Given the description of an element on the screen output the (x, y) to click on. 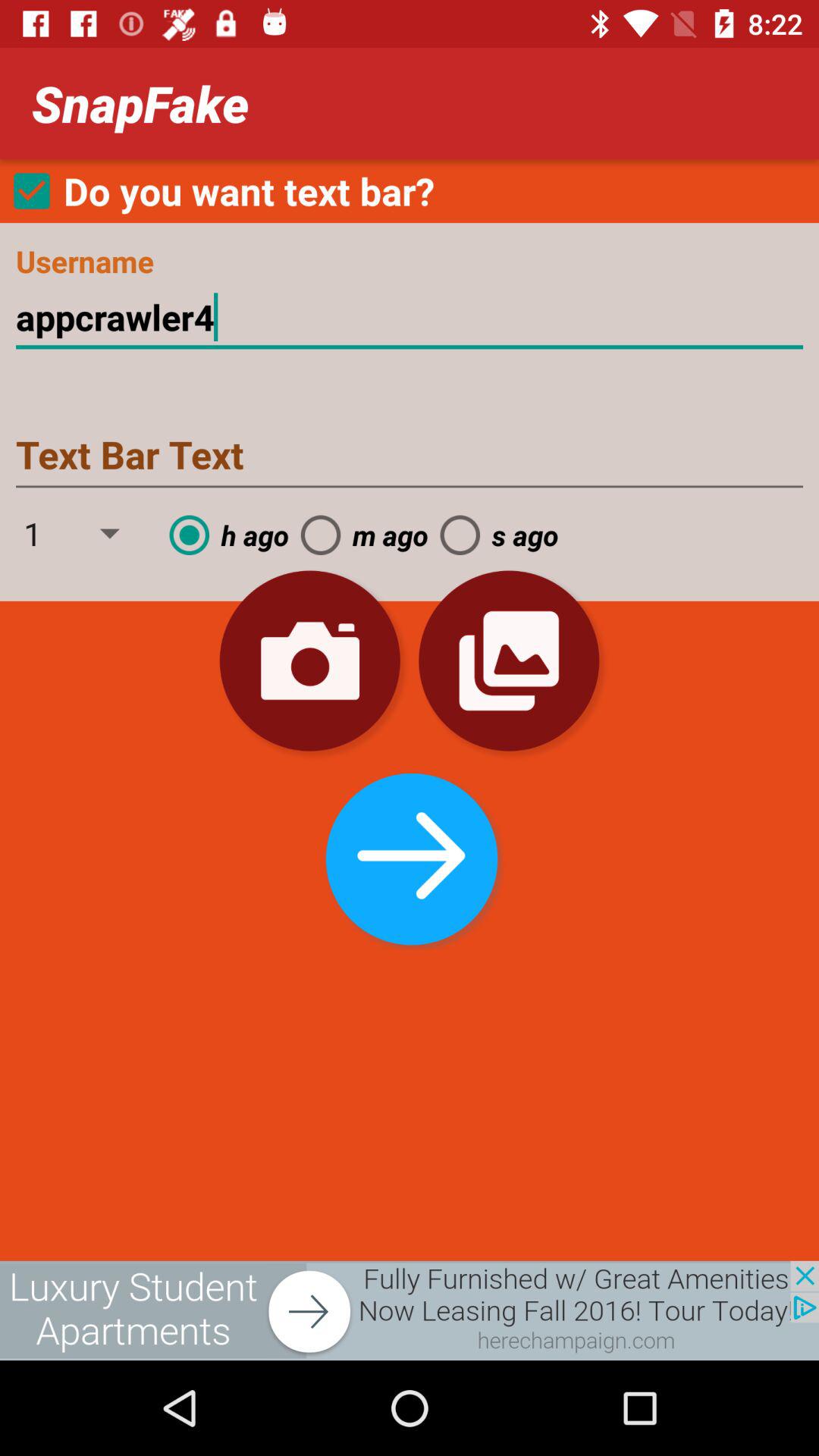
screen putton (409, 1310)
